Given the description of an element on the screen output the (x, y) to click on. 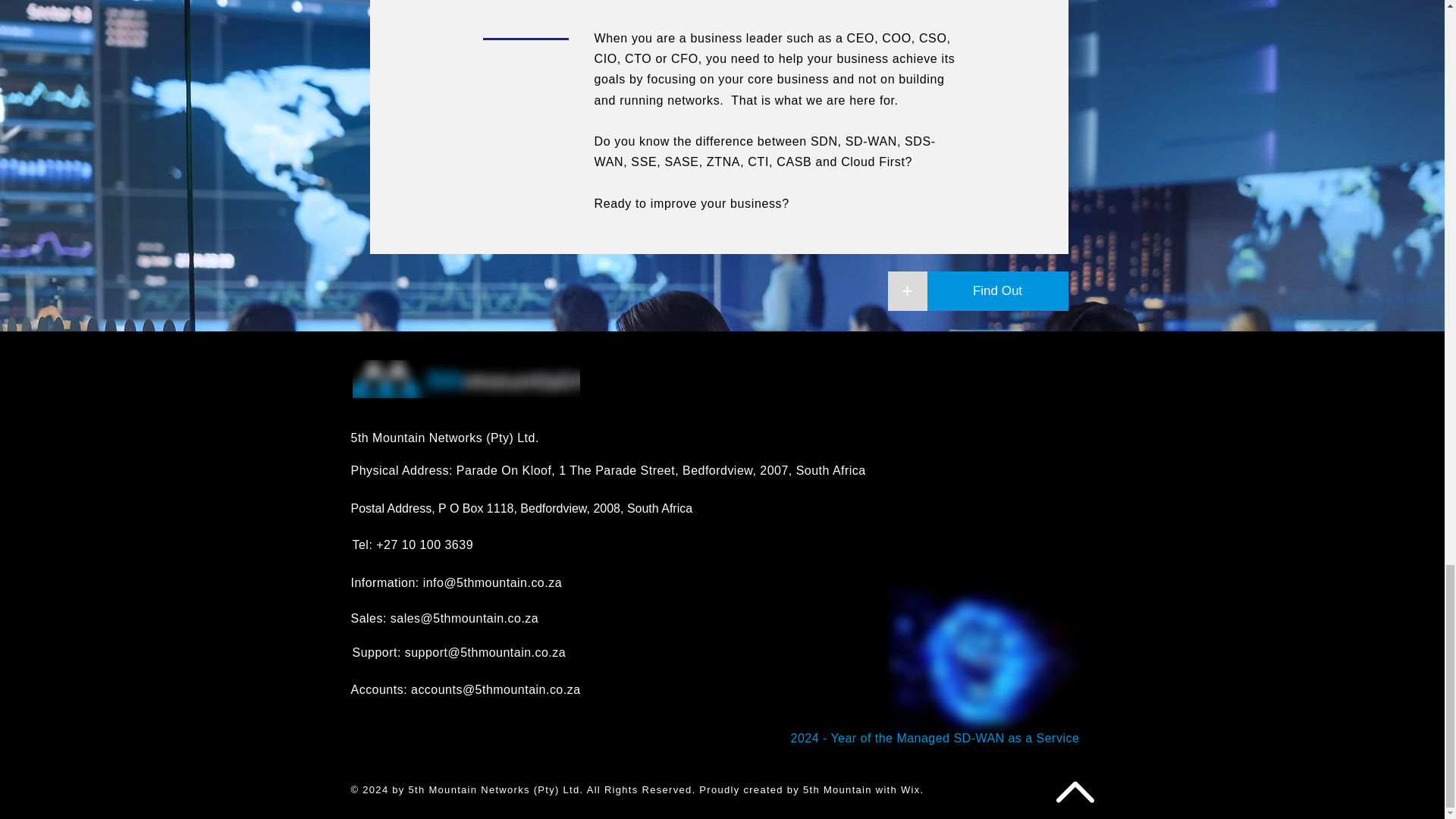
Wix. (912, 789)
5th Mountain (465, 379)
Find Out (996, 291)
SD-WAN Lion Roaring (989, 654)
